Given the description of an element on the screen output the (x, y) to click on. 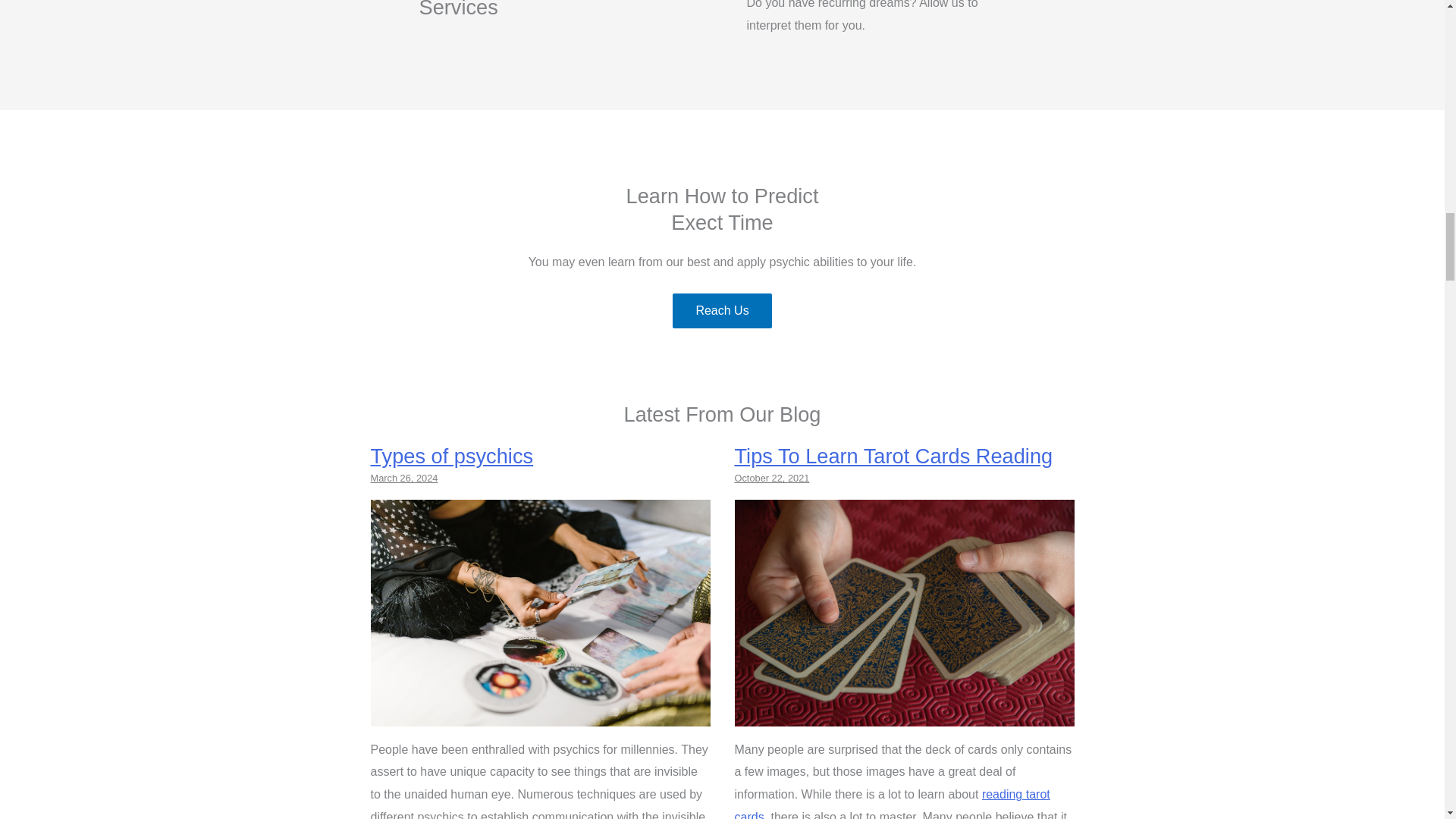
reading tarot cards (891, 803)
Reach Us (721, 310)
Types of psychics (450, 455)
Tips To Learn Tarot Cards Reading (892, 455)
Tips To Learn Tarot Cards Reading (903, 714)
March 26, 2024 (403, 478)
10:33 am (403, 478)
October 22, 2021 (771, 478)
Types of psychics (539, 714)
3:27 am (771, 478)
